Given the description of an element on the screen output the (x, y) to click on. 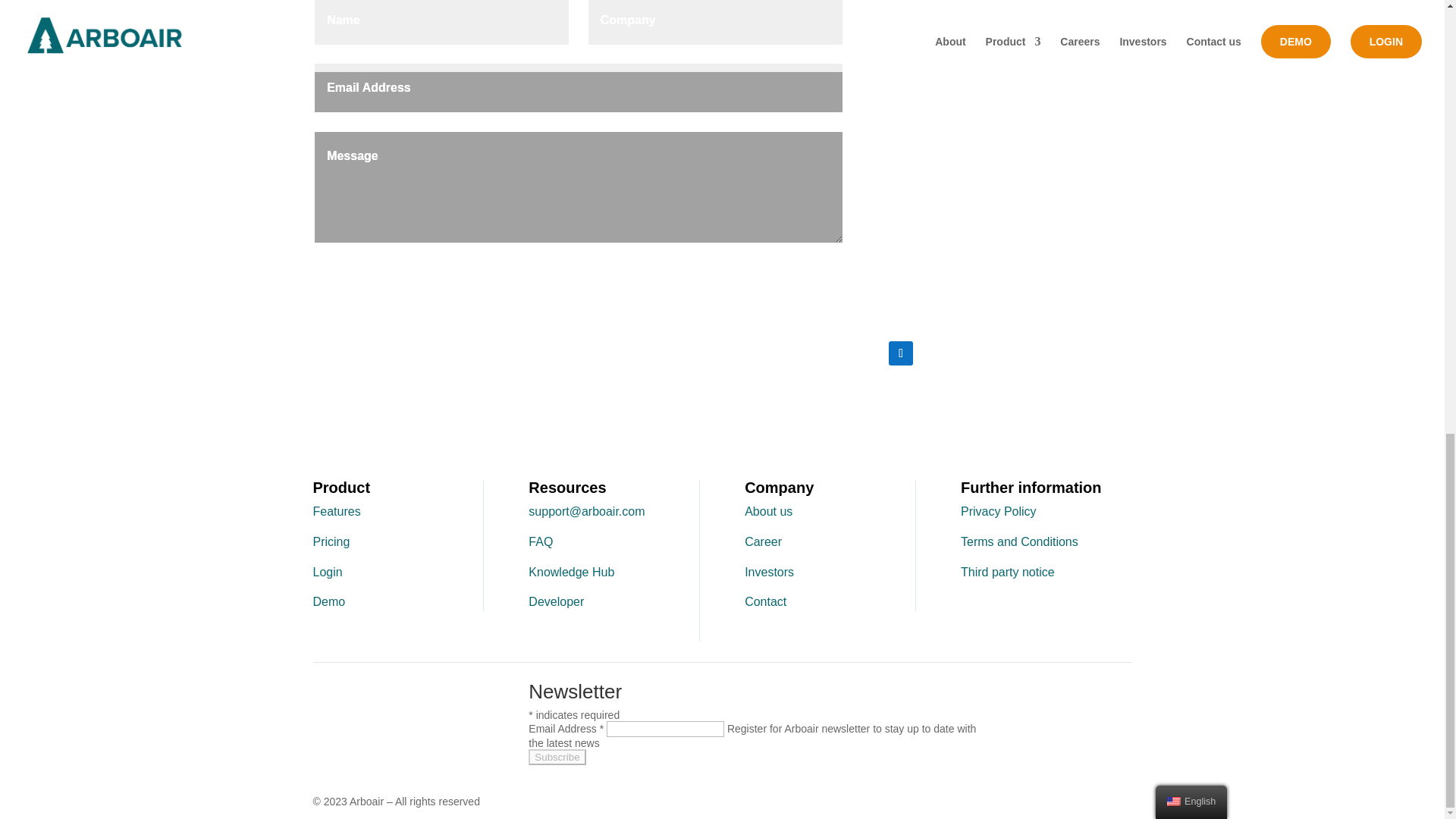
Investors (768, 571)
Follow on LinkedIn (900, 353)
Pricing (331, 541)
Career (762, 541)
Subscribe (556, 756)
FAQ (540, 541)
Contact (765, 601)
Third party notice (1007, 571)
Subscribe (556, 756)
Knowledge Hub (571, 571)
SEND (813, 266)
Developer (555, 601)
Privacy Policy (998, 511)
Login (327, 571)
About us (768, 511)
